Given the description of an element on the screen output the (x, y) to click on. 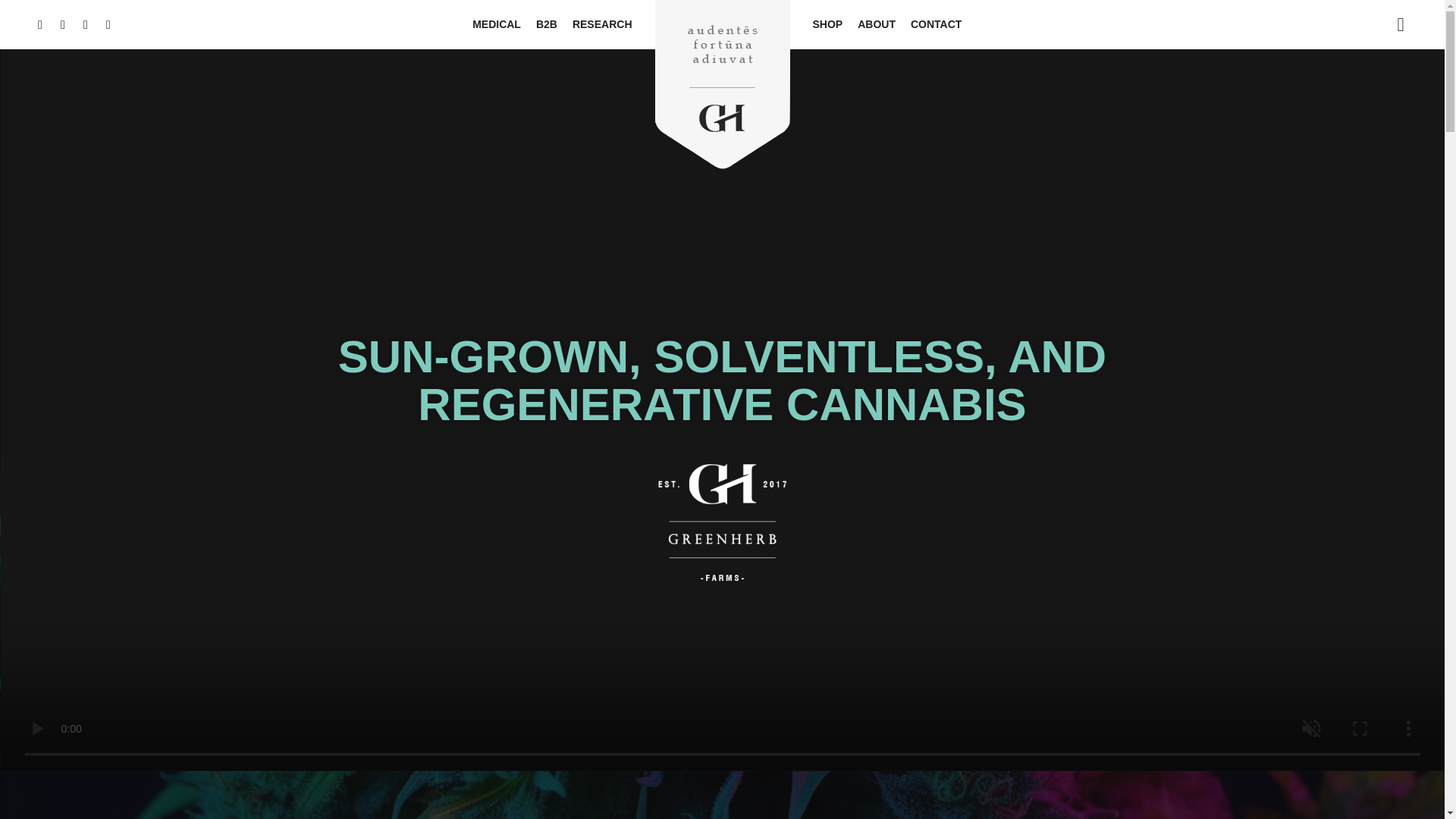
MEDICAL (496, 24)
CONTACT (935, 24)
SHOP (827, 24)
RESEARCH (602, 24)
YouTube (108, 25)
Instagram (62, 25)
Facebook (39, 25)
Twitter (85, 25)
More info (1400, 25)
Greenherb Farms (721, 85)
ABOUT (876, 24)
B2B (546, 24)
